Given the description of an element on the screen output the (x, y) to click on. 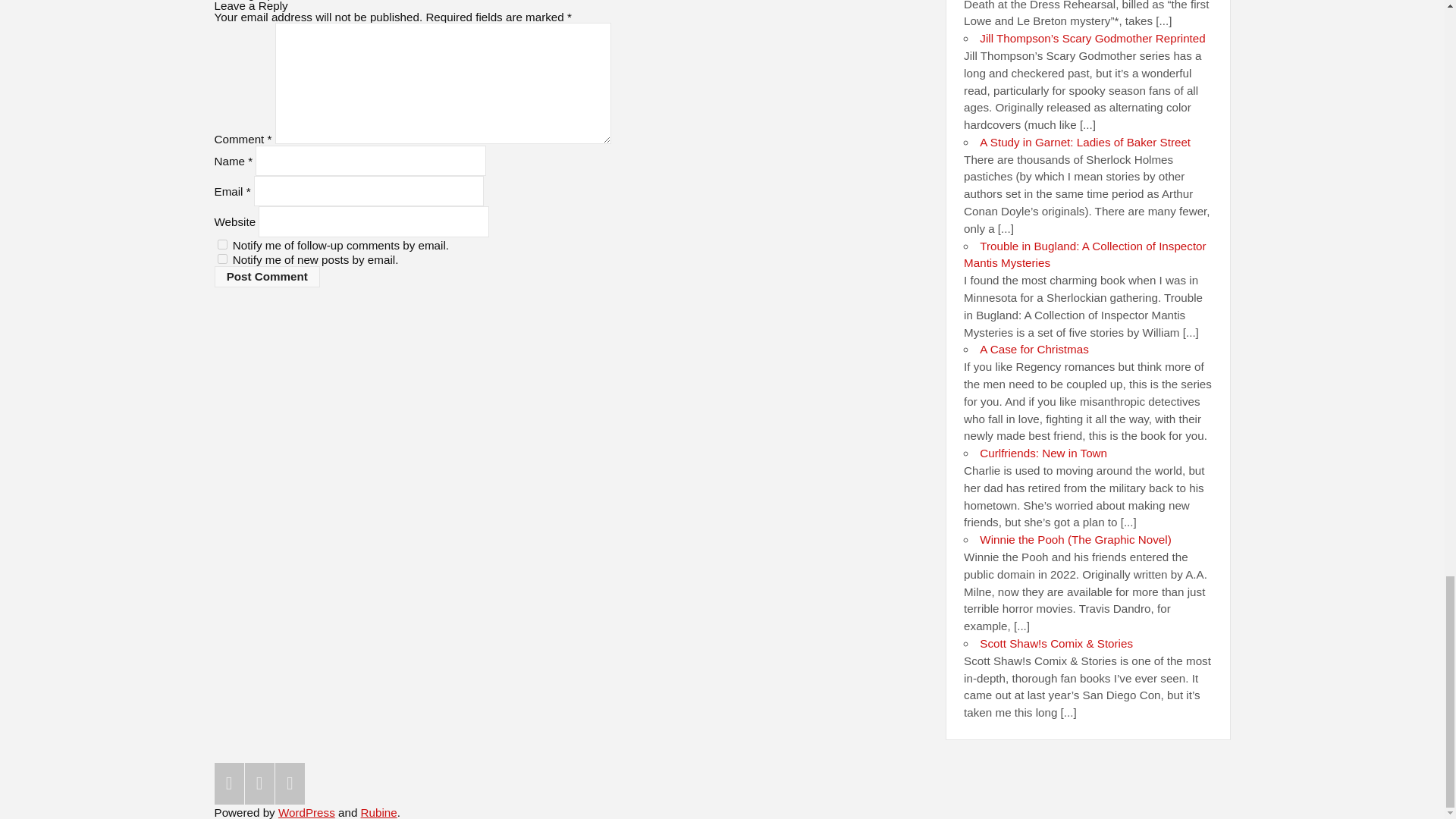
subscribe (221, 258)
subscribe (221, 244)
Post Comment (267, 276)
Post Comment (267, 276)
